Given the description of an element on the screen output the (x, y) to click on. 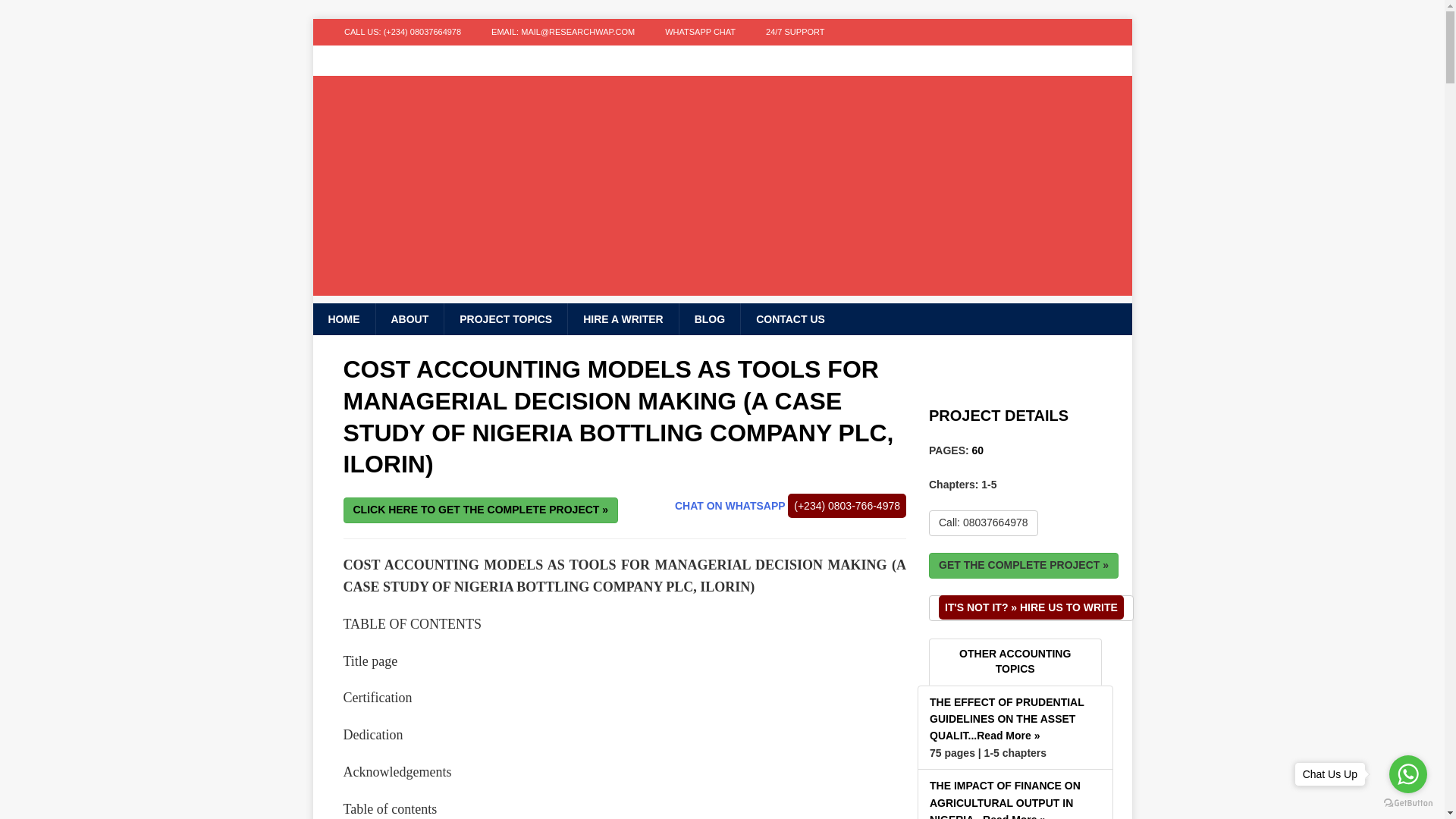
PROJECT TOPICS (505, 318)
WHATSAPP CHAT (700, 31)
HOME (343, 318)
60 (978, 450)
Call: 08037664978 (983, 523)
ABOUT (409, 318)
OTHER ACCOUNTING TOPICS (1015, 661)
HIRE A WRITER (622, 318)
BLOG (708, 318)
CONTACT US (789, 318)
